Given the description of an element on the screen output the (x, y) to click on. 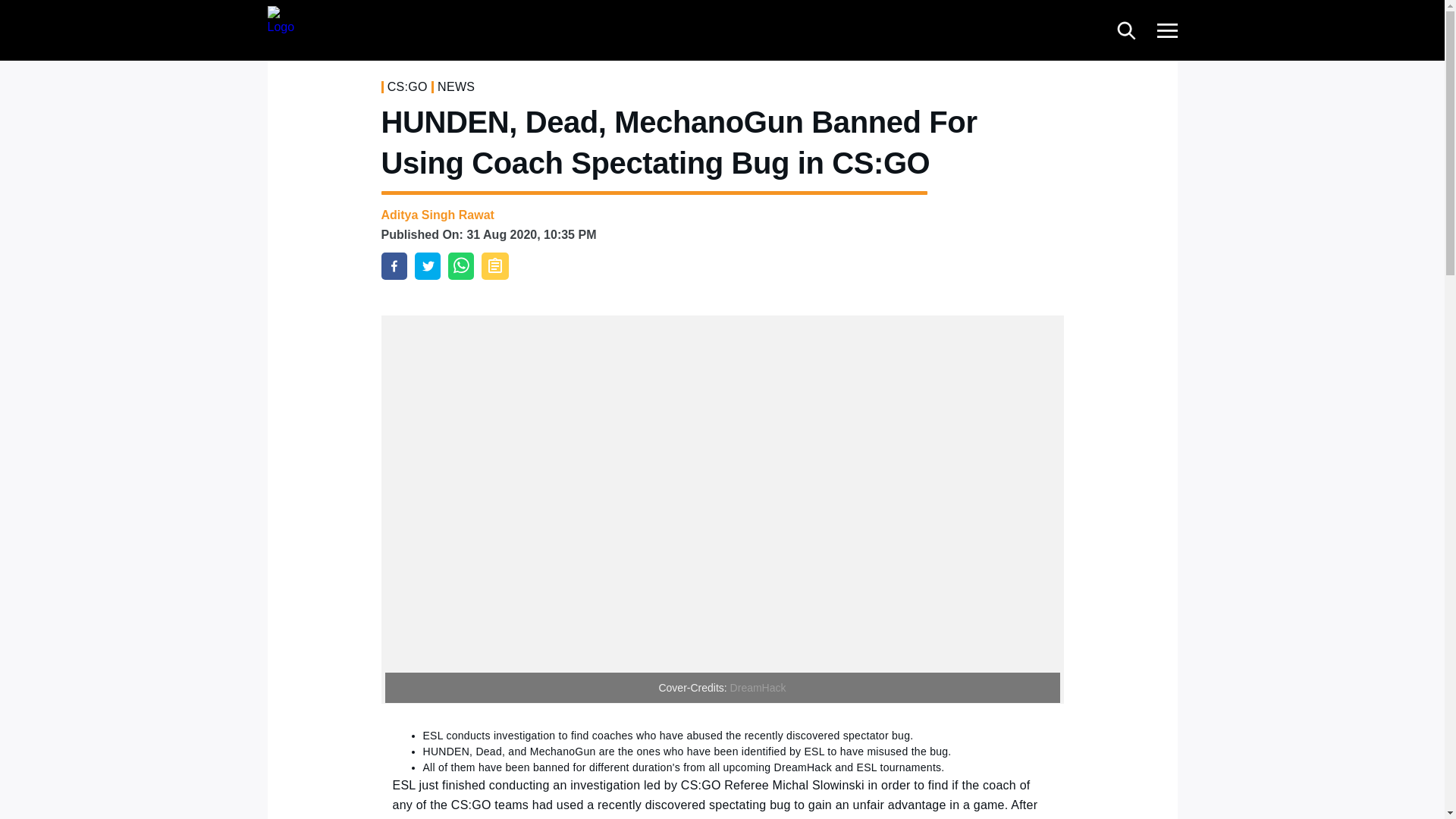
DreamHack (758, 687)
CS:GO (407, 87)
Aditya Singh Rawat (436, 214)
NEWS (456, 87)
